Given the description of an element on the screen output the (x, y) to click on. 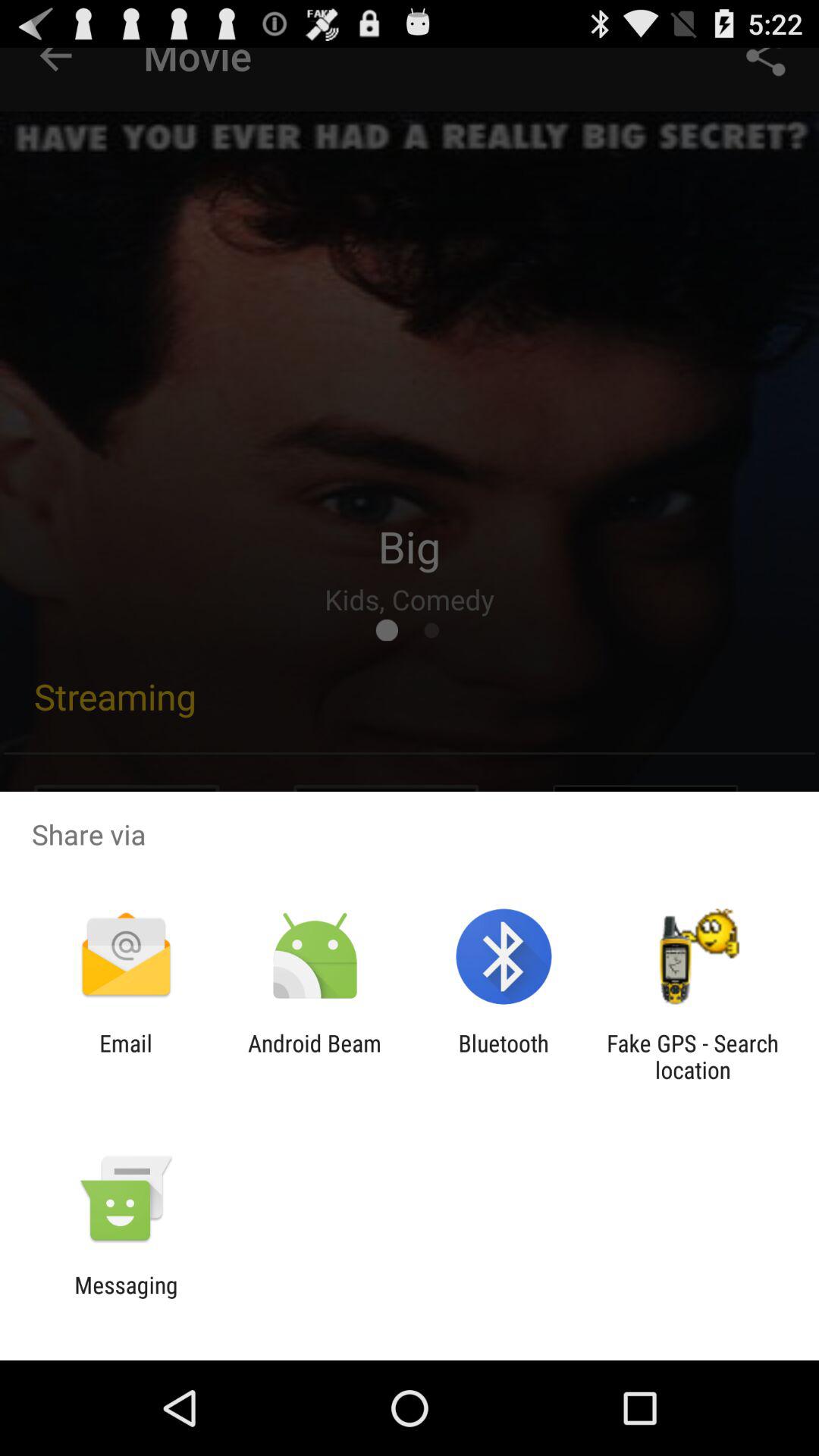
launch the item to the right of bluetooth app (692, 1056)
